Given the description of an element on the screen output the (x, y) to click on. 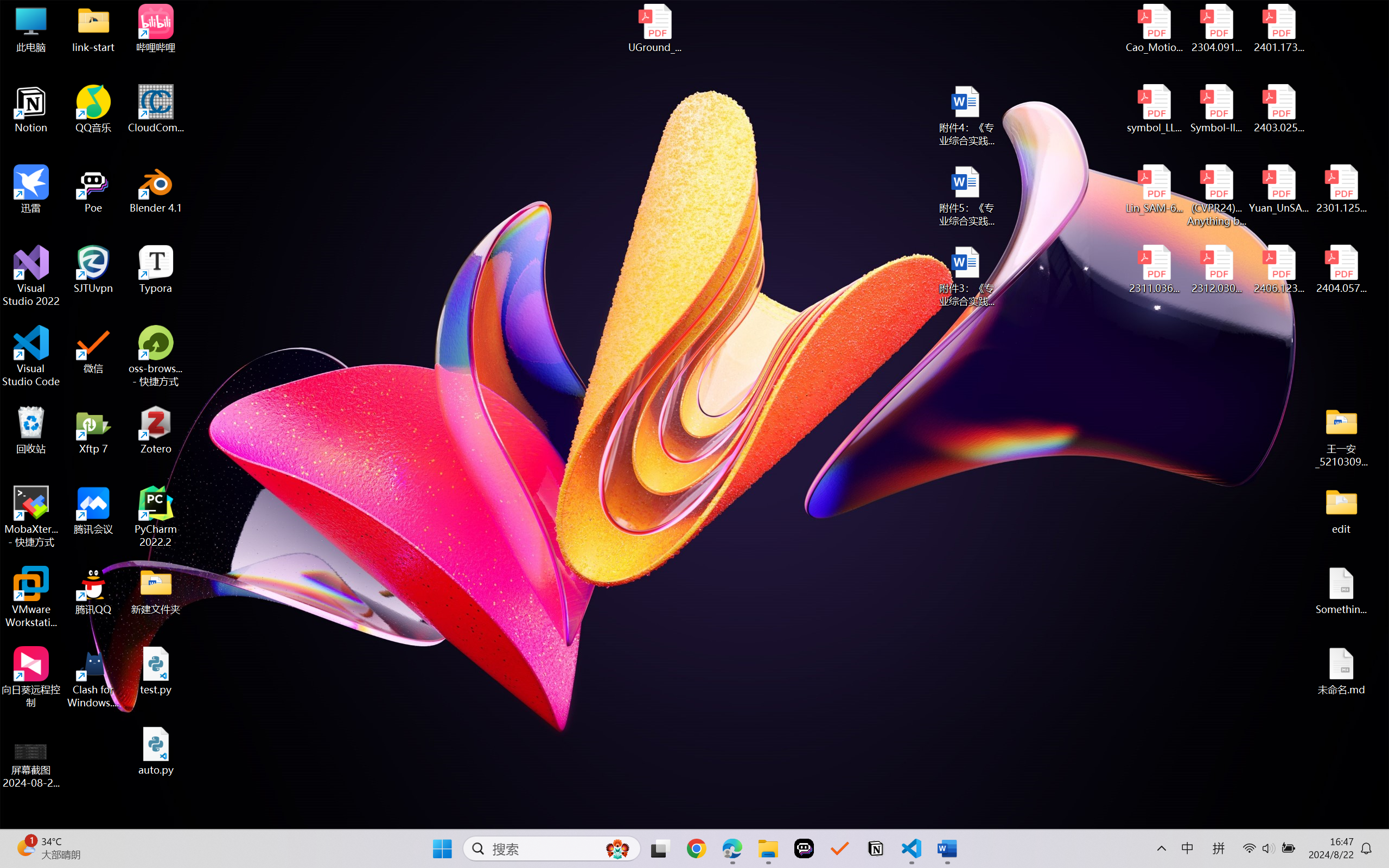
SJTUvpn (93, 269)
Google Chrome (696, 848)
CloudCompare (156, 109)
Something.md (1340, 591)
UGround_paper.pdf (654, 28)
Blender 4.1 (156, 189)
2404.05719v1.pdf (1340, 269)
